Given the description of an element on the screen output the (x, y) to click on. 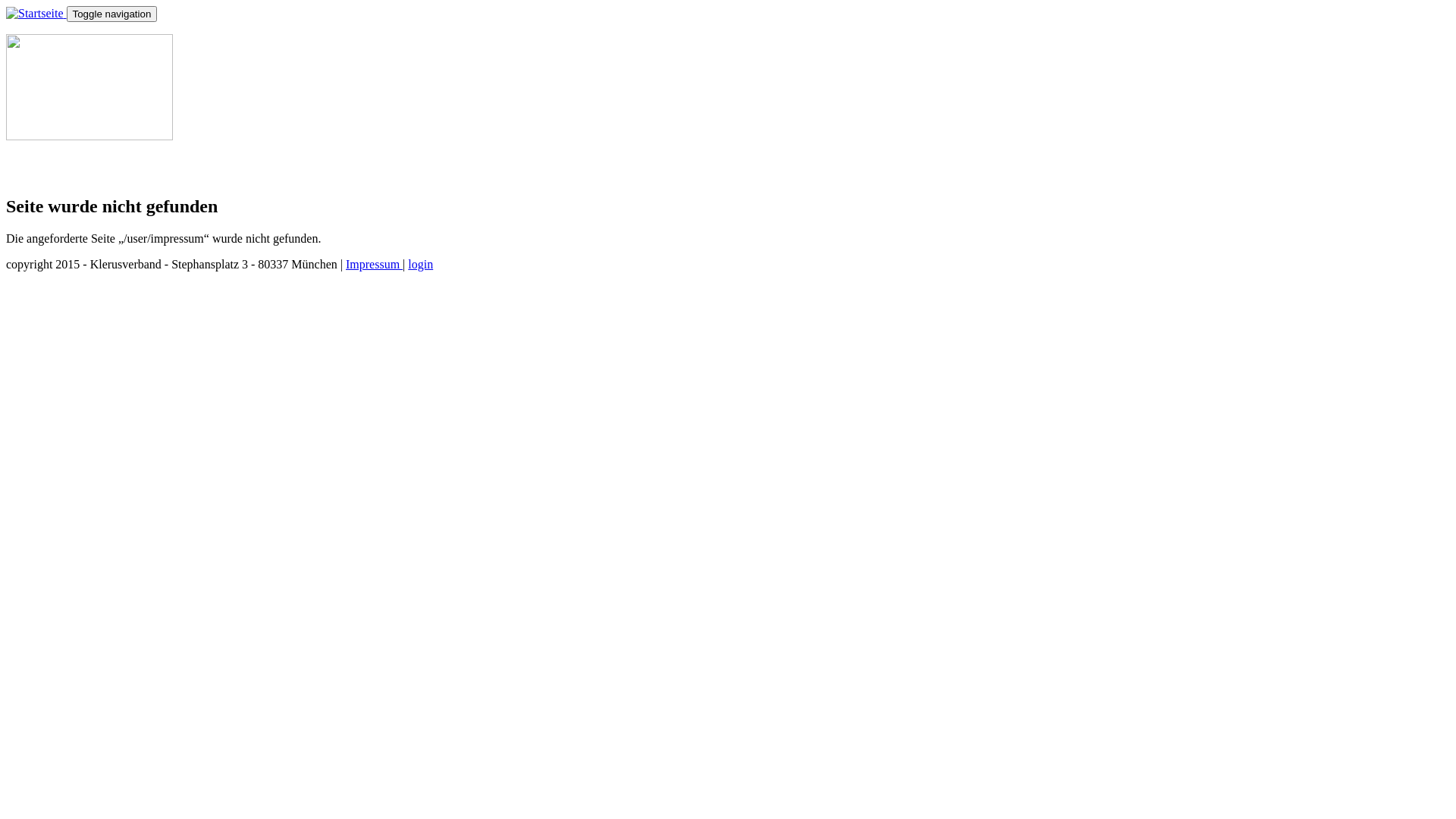
Impressum Element type: text (373, 263)
Direkt zum Inhalt Element type: text (49, 6)
login Element type: text (420, 263)
Toggle navigation Element type: text (111, 13)
Startseite Element type: hover (36, 12)
